Given the description of an element on the screen output the (x, y) to click on. 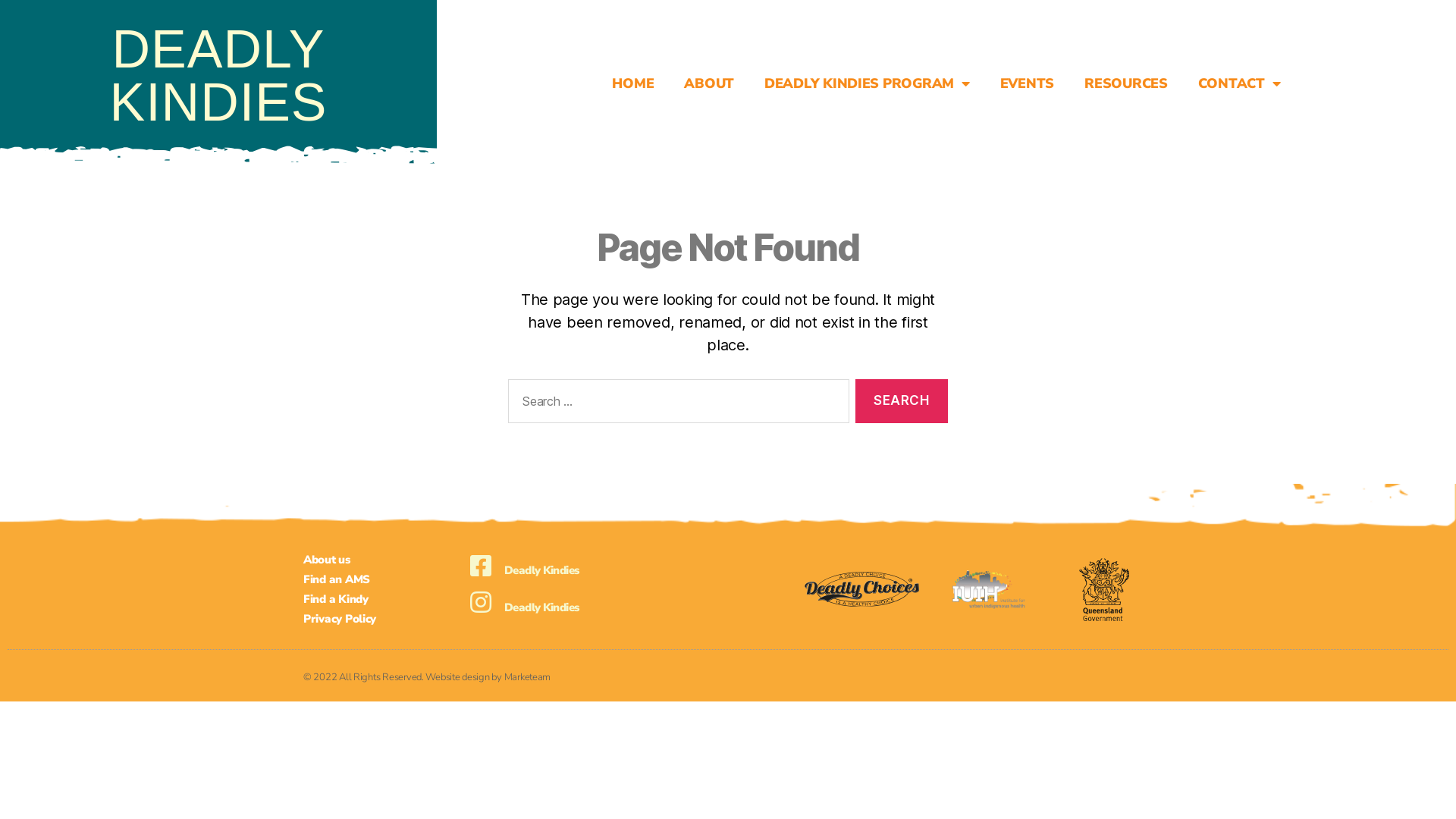
HOME Element type: text (632, 82)
About us Element type: text (382, 559)
ABOUT Element type: text (708, 82)
Marketeam Element type: text (527, 677)
Deadly Kindies Element type: text (541, 607)
Deadly Kindies Element type: text (541, 569)
Search Element type: text (901, 401)
Find an AMS Element type: text (382, 578)
RESOURCES Element type: text (1126, 82)
CONTACT Element type: text (1239, 82)
DEADLY KINDIES PROGRAM Element type: text (867, 82)
EVENTS Element type: text (1027, 82)
Find a Kindy Element type: text (382, 598)
DEADLY KINDIES Element type: text (217, 75)
Privacy Policy Element type: text (382, 618)
